Given the description of an element on the screen output the (x, y) to click on. 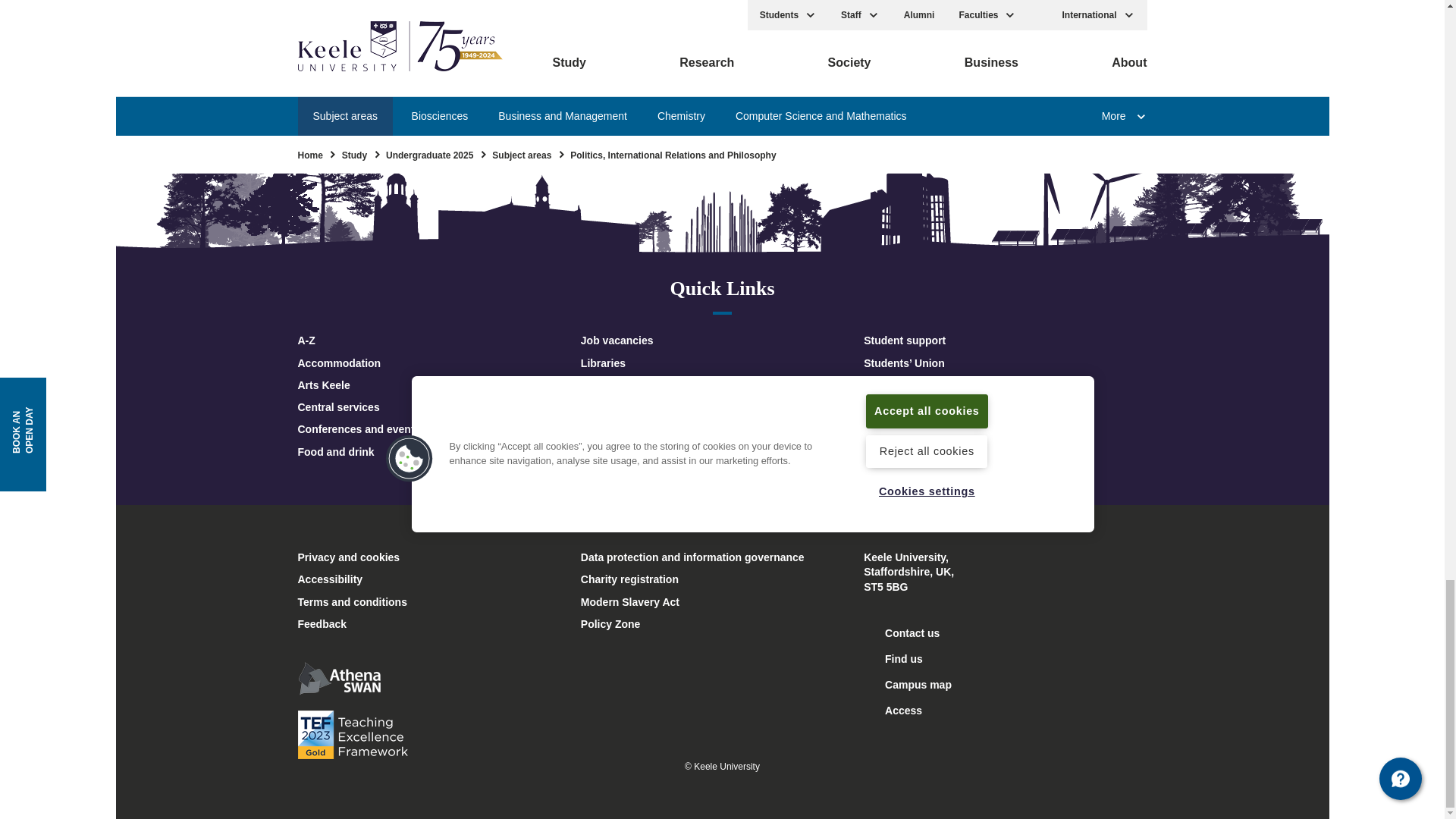
Find us (893, 659)
Access (892, 711)
Contact us (901, 633)
Campus map (907, 685)
Link to Twitter (642, 27)
Link to LinkedIn (801, 27)
Link to Weibo (853, 27)
Link to Instagram (748, 27)
Link to Facebook (590, 27)
Link to Youtube (696, 27)
